Given the description of an element on the screen output the (x, y) to click on. 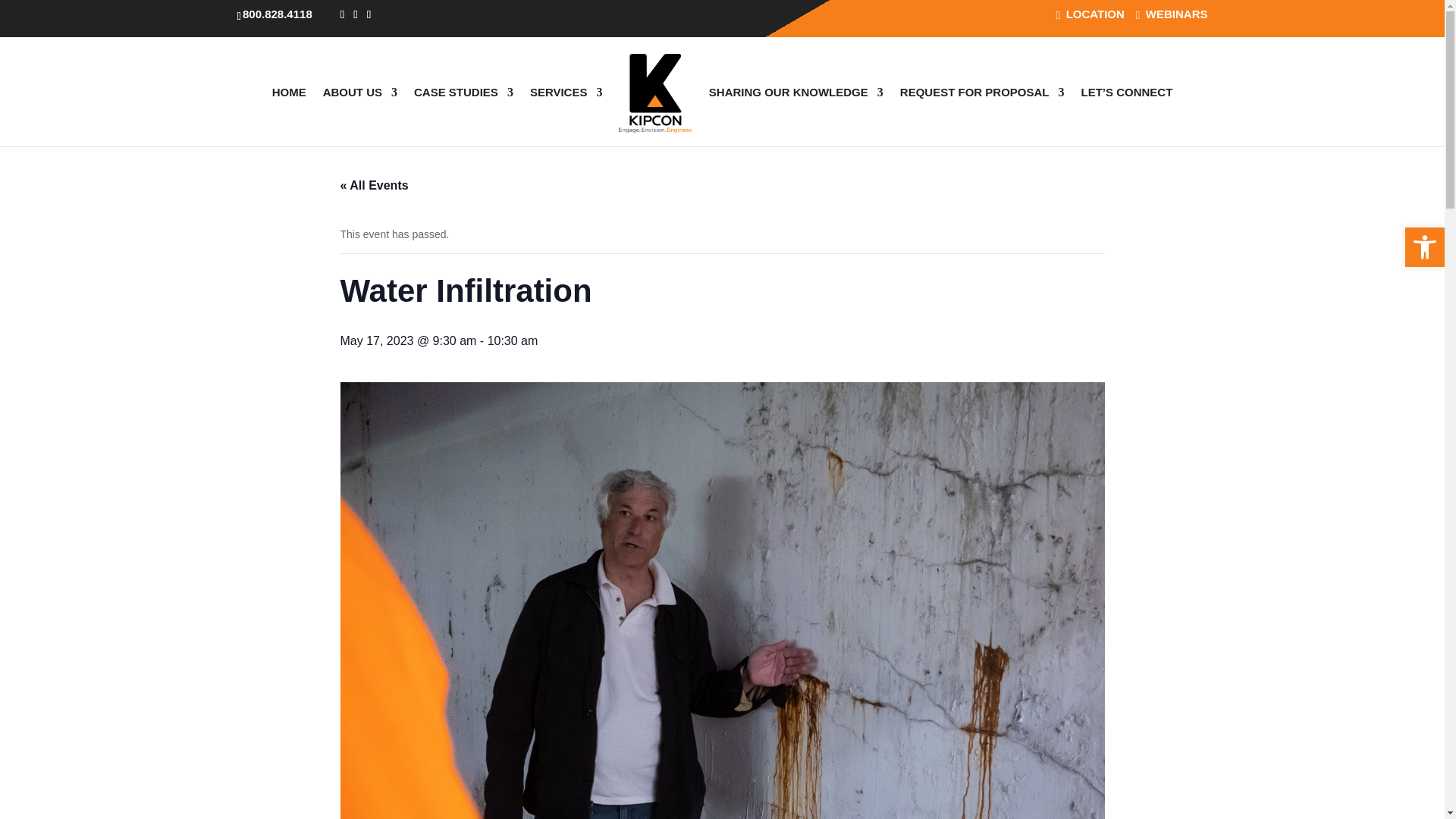
HOME (288, 112)
CASE STUDIES (463, 112)
LOCATION (1090, 18)
WEBINARS (1171, 18)
Accessibility Tools (1424, 247)
SERVICES (565, 112)
ABOUT US (360, 112)
800.828.4118 (278, 13)
